Given the description of an element on the screen output the (x, y) to click on. 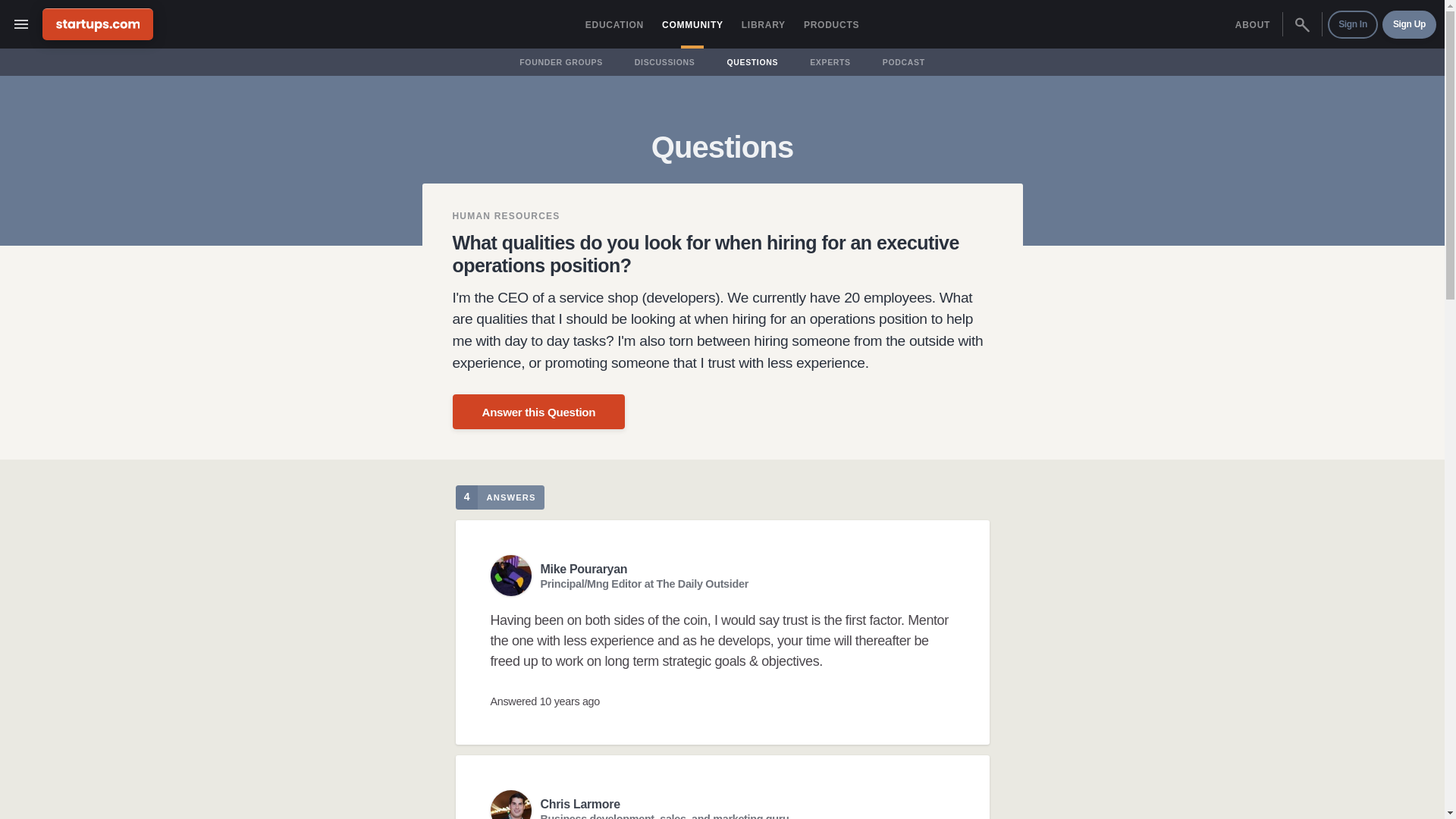
ABOUT (1252, 24)
Photo of Mike Pouraryan (510, 575)
COMMUNITY (692, 24)
Photo of Chris Larmore (510, 804)
Sign Up (1408, 24)
PRODUCTS (830, 24)
Sign In (1352, 24)
EDUCATION (614, 24)
EXPERTS (830, 62)
LIBRARY (763, 24)
PODCAST (904, 62)
QUESTIONS (752, 62)
FOUNDER GROUPS (561, 62)
DISCUSSIONS (664, 62)
